Given the description of an element on the screen output the (x, y) to click on. 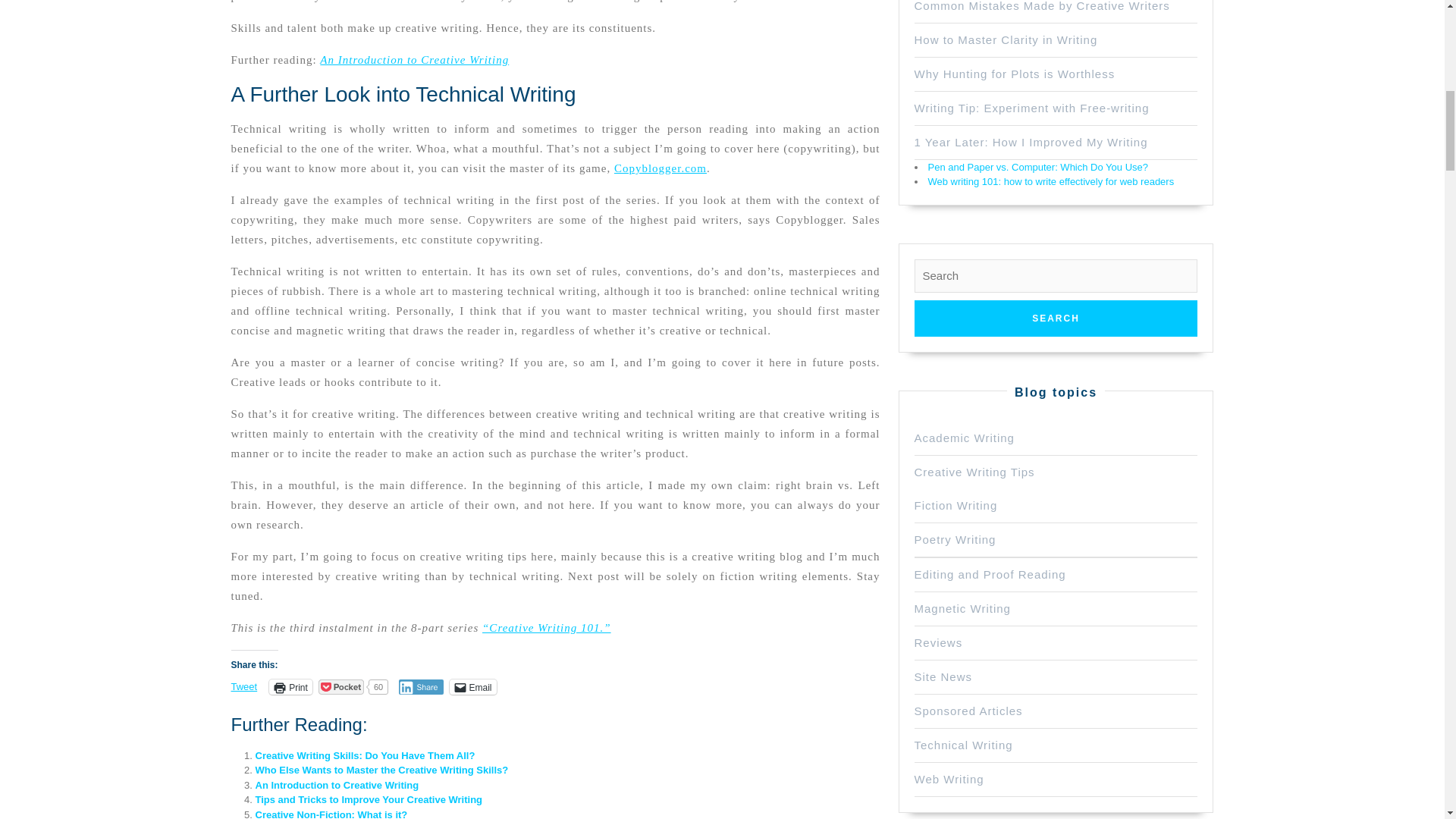
An Introduction to Creative Writing (336, 785)
Creative Non-Fiction: What is it? (330, 814)
Search (1056, 318)
Who Else Wants to Master the Creative Writing Skills? (381, 769)
Click to email a link to a friend (472, 686)
Tweet (243, 685)
Who Else Wants to Master the Creative Writing Skills? (381, 769)
Share (421, 686)
Email (472, 686)
Creative Non-Fiction: What is it? (330, 814)
An Introduction to Creative Writing (414, 60)
Click to print (291, 686)
Copyblogger.com (660, 168)
Search (1056, 318)
Creative Writing Skills: Do You Have Them All? (364, 755)
